Given the description of an element on the screen output the (x, y) to click on. 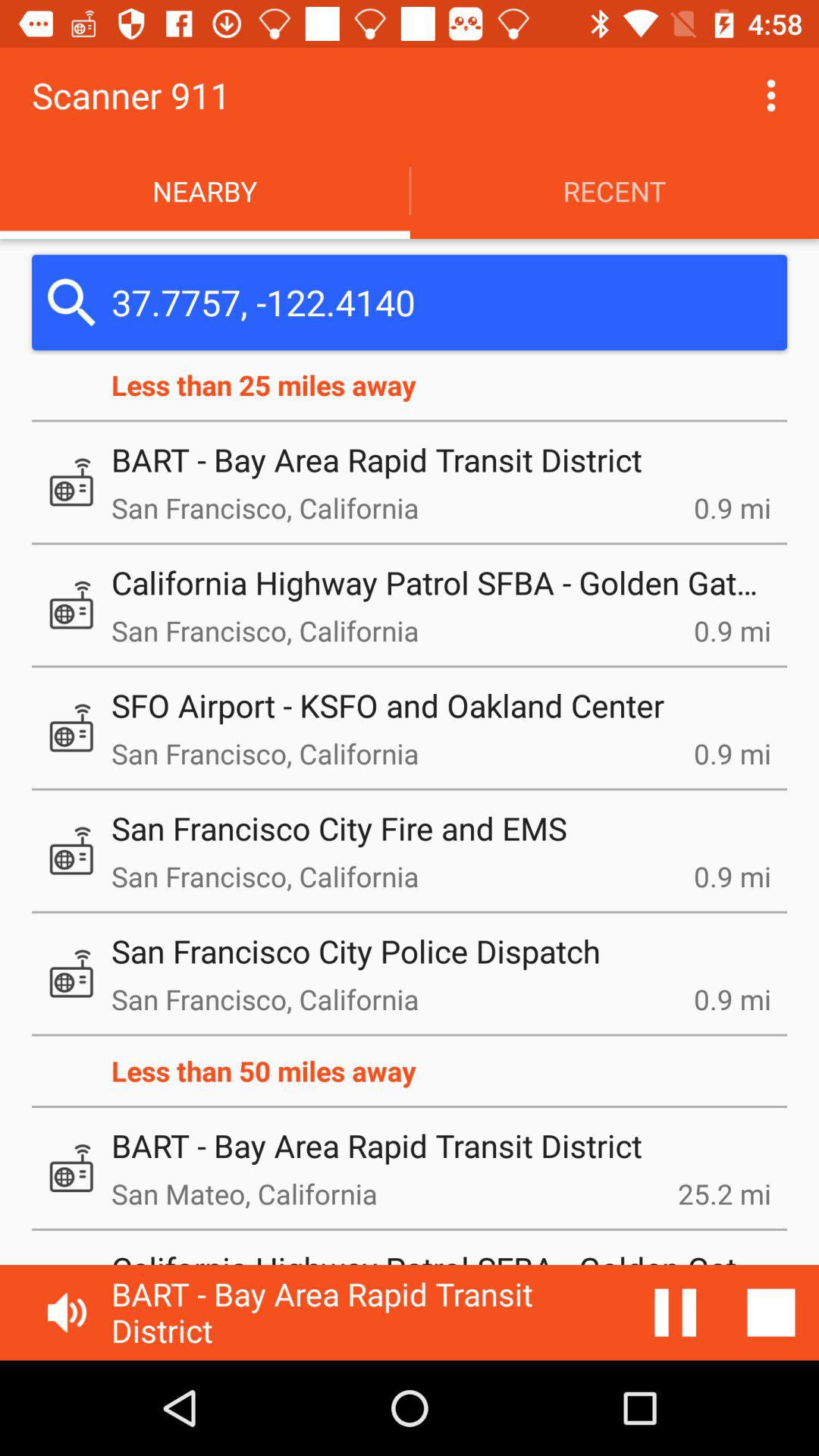
click to option (771, 95)
